Given the description of an element on the screen output the (x, y) to click on. 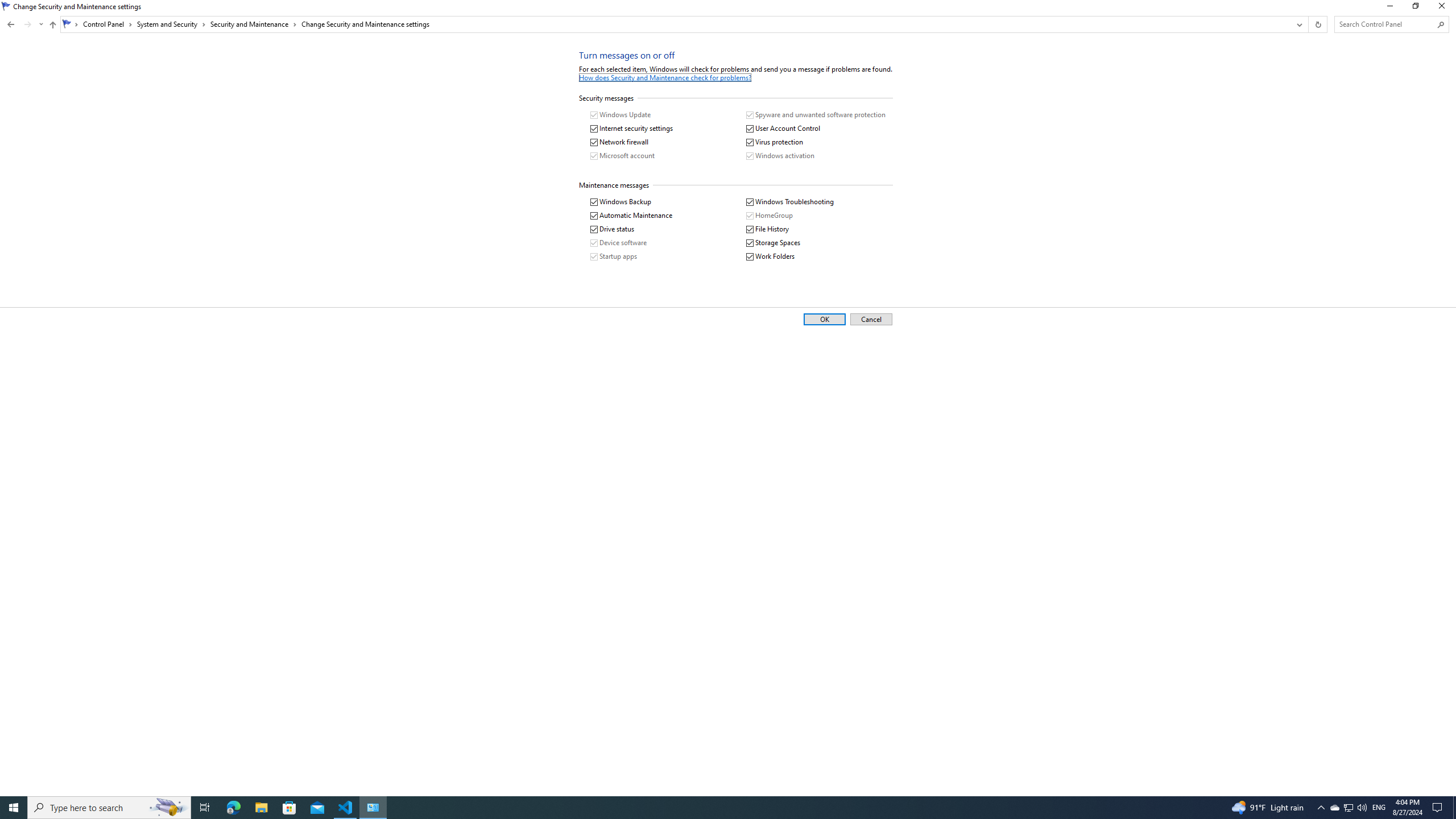
Startup apps (613, 256)
Control Panel - 1 running window (373, 807)
Storage Spaces (772, 243)
Address band toolbar (1308, 23)
How does Security and Maintenance check for problems? (665, 77)
File History (767, 229)
Back to Security and Maintenance (Alt + Left Arrow) (10, 23)
Device software (618, 243)
System (6, 6)
